Given the description of an element on the screen output the (x, y) to click on. 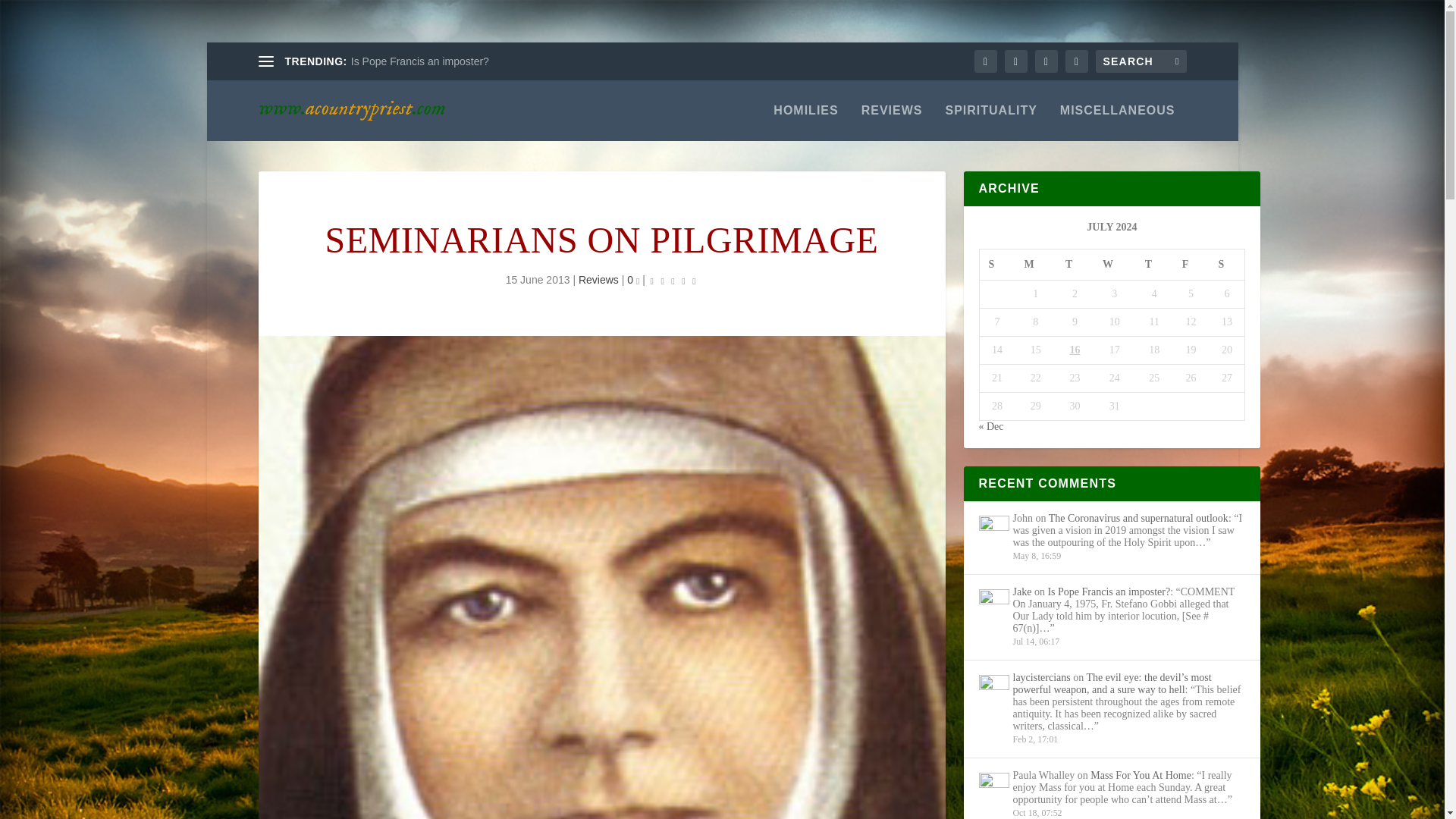
0 (633, 279)
REVIEWS (892, 122)
HOMILIES (805, 122)
Reviews (598, 279)
SPIRITUALITY (990, 122)
Is Pope Francis an imposter? (419, 61)
Rating: 0.00 (672, 280)
